Given the description of an element on the screen output the (x, y) to click on. 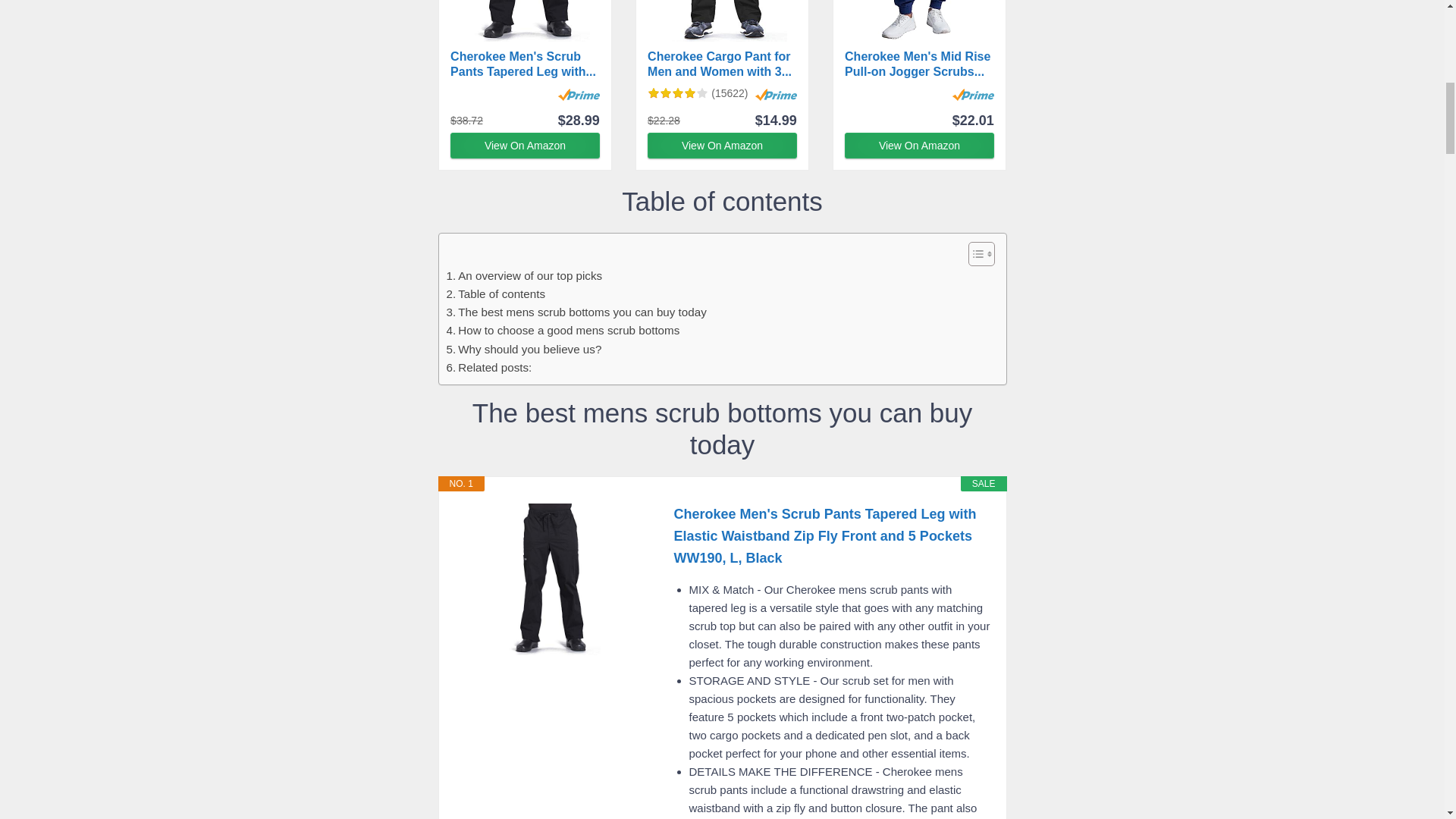
View On Amazon (524, 145)
View On Amazon (919, 145)
Why should you believe us? (523, 349)
View On Amazon (721, 145)
Table of contents (494, 294)
An overview of our top picks (523, 275)
Amazon Prime (775, 94)
Cherokee Cargo Pant for Men and Women with 3... (721, 64)
View On Amazon (721, 145)
Cherokee Men's Scrub Pants Tapered Leg with... (524, 64)
